Given the description of an element on the screen output the (x, y) to click on. 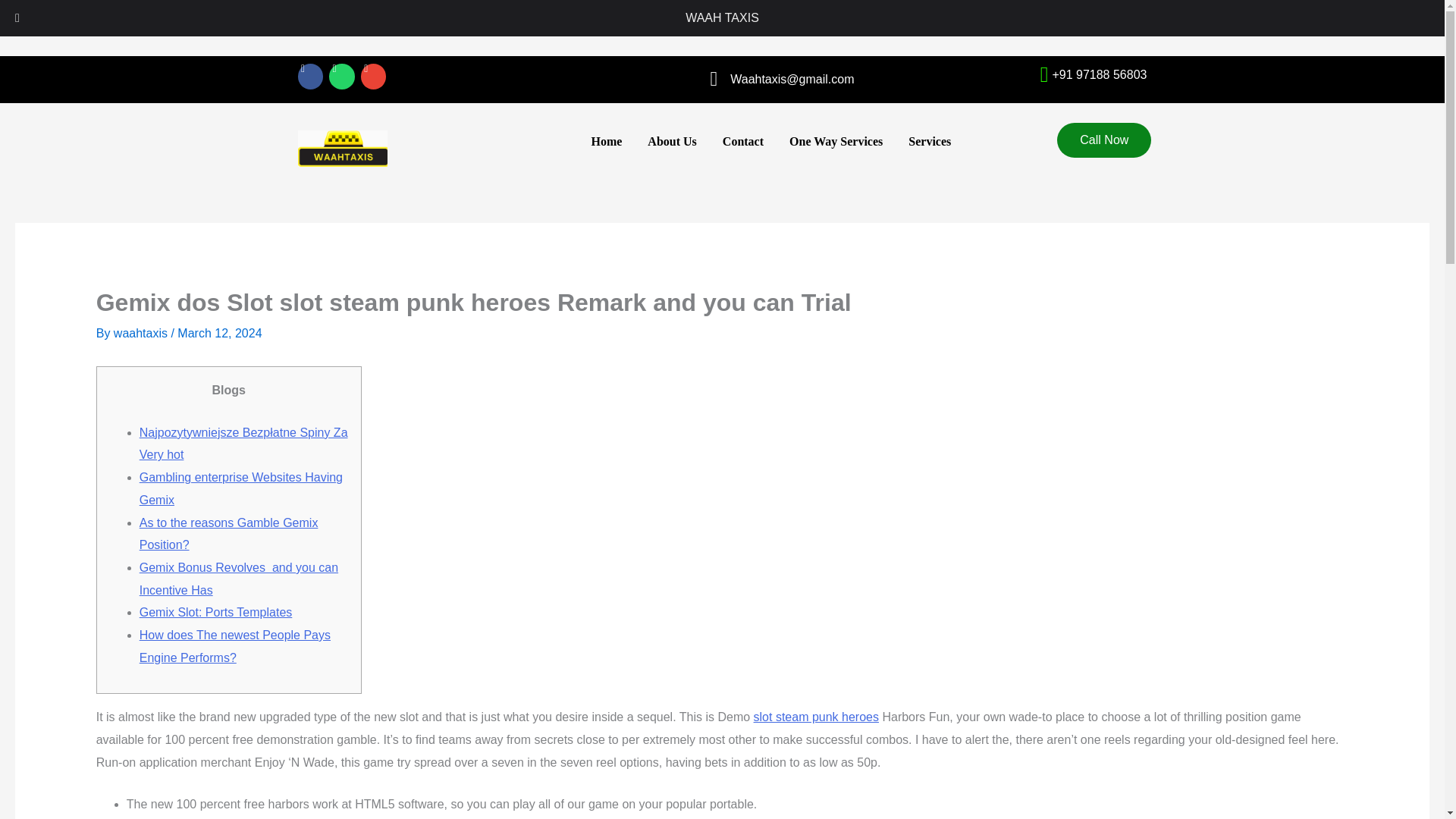
slot steam punk heroes (816, 716)
Gambling enterprise Websites Having Gemix (240, 488)
About Us (671, 141)
Services (929, 141)
Gemix Bonus Revolves  and you can Incentive Has (238, 579)
How does The newest People Pays Engine Performs? (234, 646)
View all posts by waahtaxis (142, 332)
Home (606, 141)
Gemix Slot: Ports Templates (215, 612)
Contact (743, 141)
waahtaxis (142, 332)
Call Now (1104, 462)
As to the reasons Gamble Gemix Position? (228, 534)
One Way Services (835, 141)
